Given the description of an element on the screen output the (x, y) to click on. 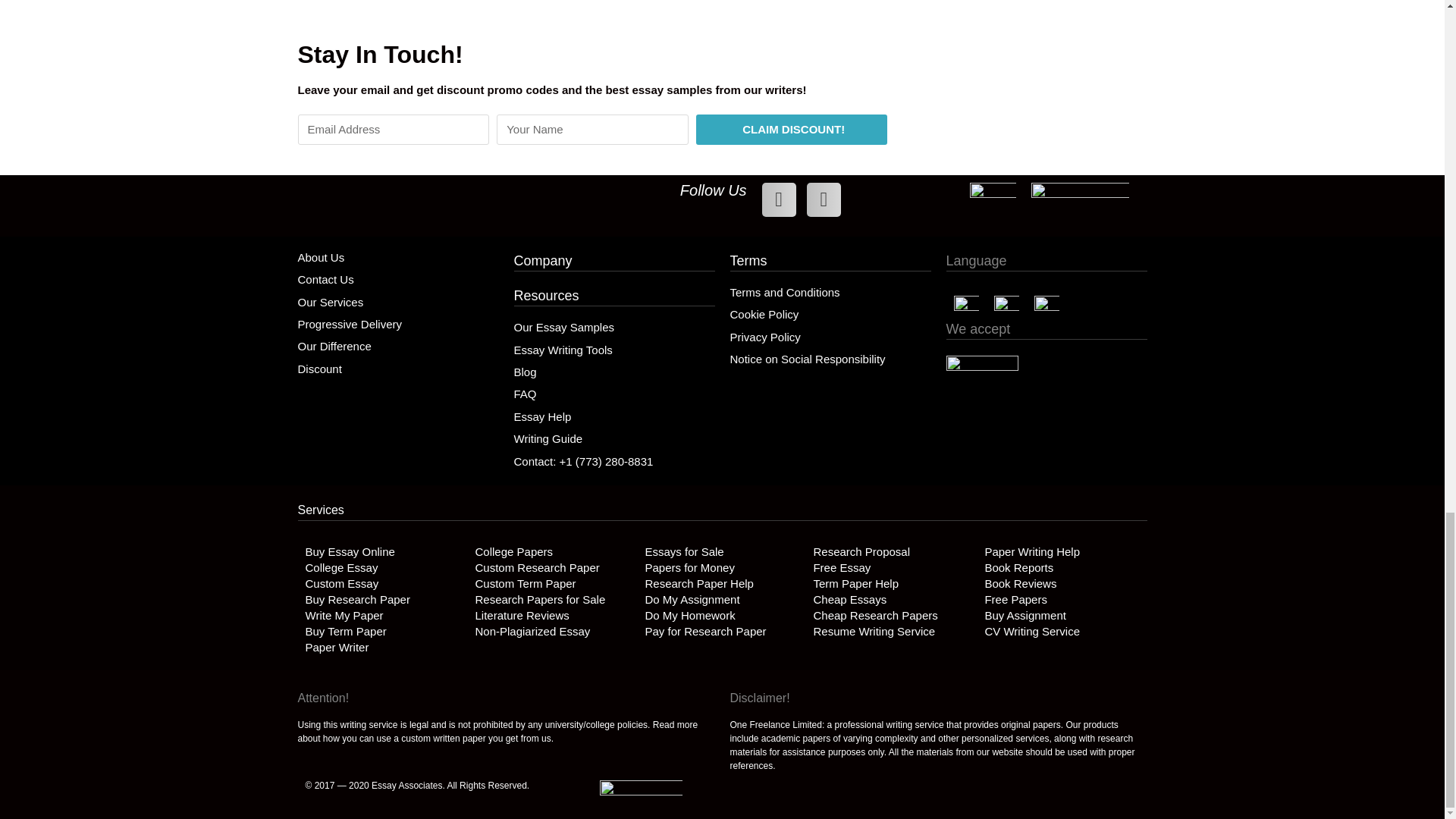
CLAIM DISCOUNT! (791, 129)
